Given the description of an element on the screen output the (x, y) to click on. 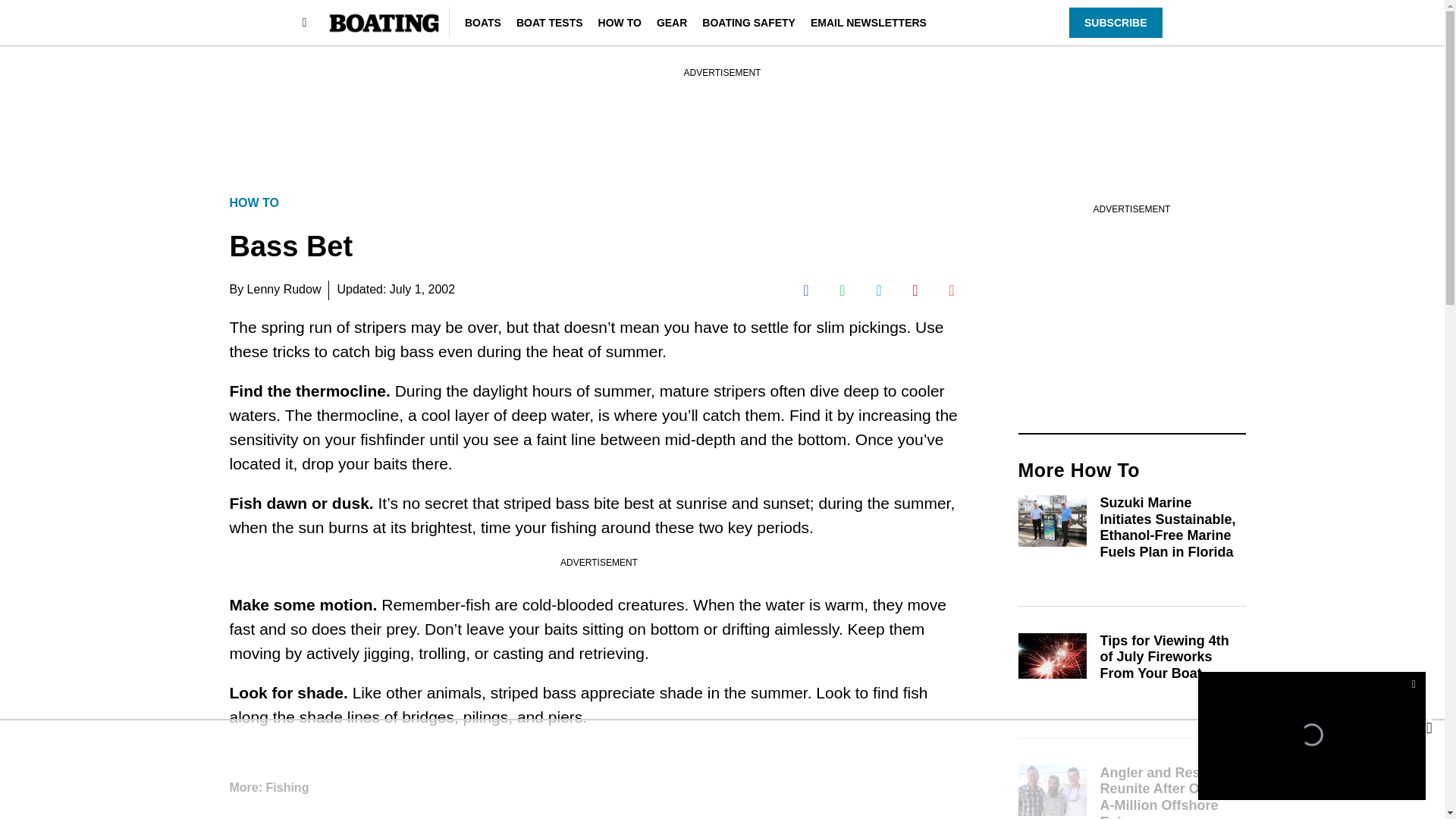
BOAT TESTS (549, 22)
HOW TO (620, 22)
BOATING SAFETY (747, 22)
3rd party ad content (721, 769)
EMAIL NEWSLETTERS (868, 22)
GEAR (671, 22)
3rd party ad content (721, 114)
3rd party ad content (1130, 311)
BOATS (482, 22)
